Given the description of an element on the screen output the (x, y) to click on. 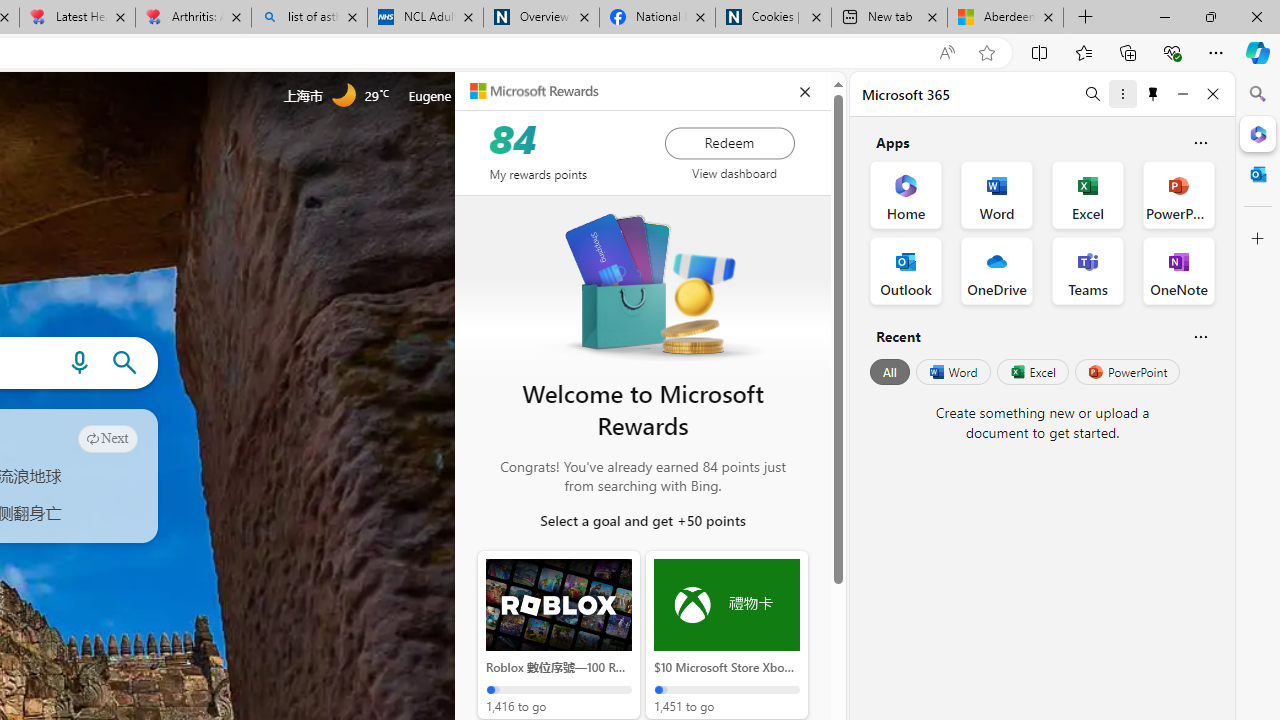
Search using voice (79, 363)
Settings and quick links (594, 95)
Is this helpful? (1200, 336)
Redeem (729, 142)
View dashboard (734, 173)
Microsoft Rewards 84 (537, 94)
Aberdeen, Hong Kong SAR hourly forecast | Microsoft Weather (1005, 17)
OneDrive Office App (996, 270)
Word (952, 372)
closeEduPanel (804, 91)
